Given the description of an element on the screen output the (x, y) to click on. 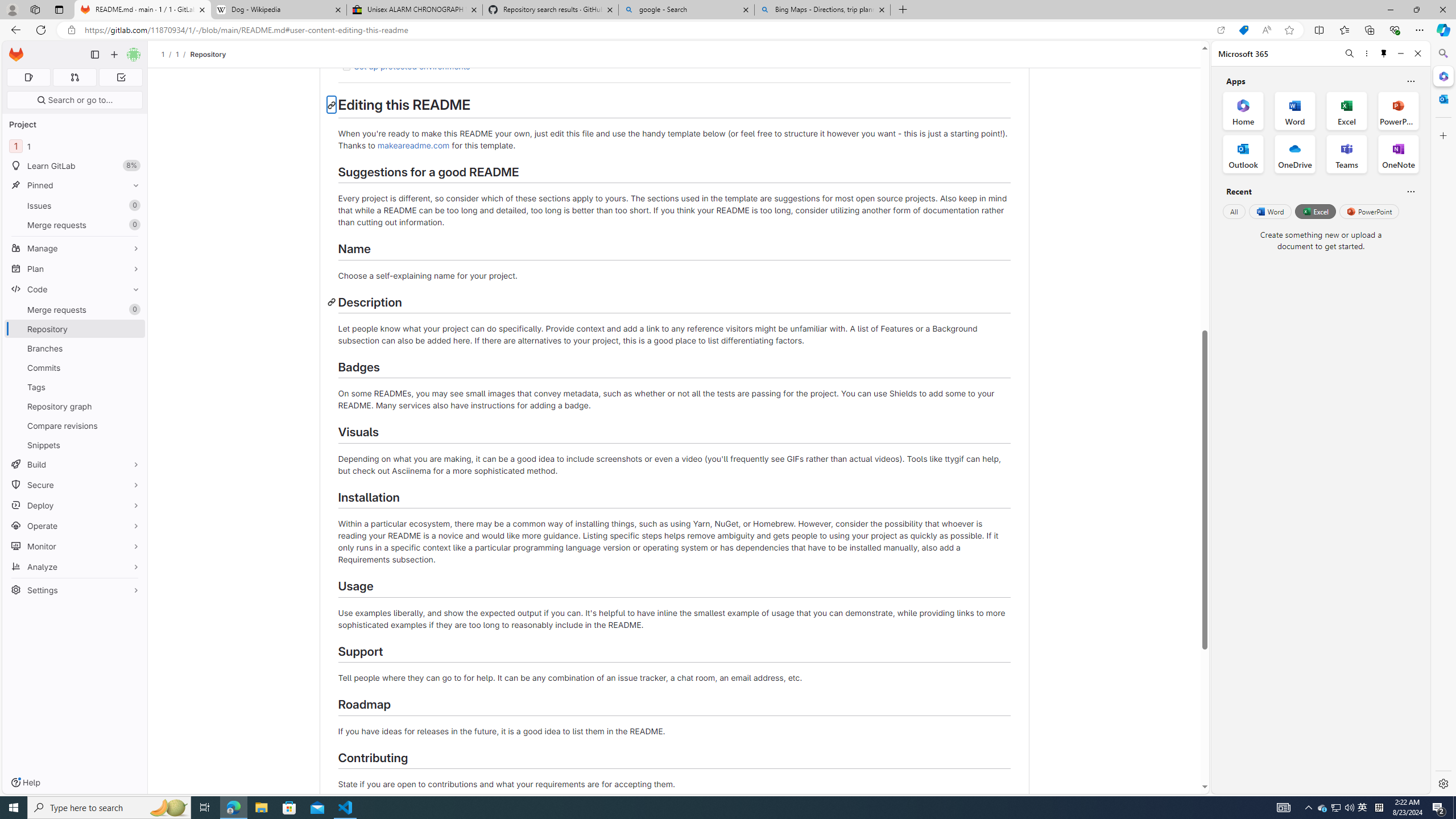
Learn GitLab8% (74, 165)
Build (74, 464)
Pinned (74, 185)
Repository (207, 53)
Branches (74, 348)
1 1 (74, 145)
Analyze (74, 566)
Monitor (74, 546)
Commits (74, 367)
